Given the description of an element on the screen output the (x, y) to click on. 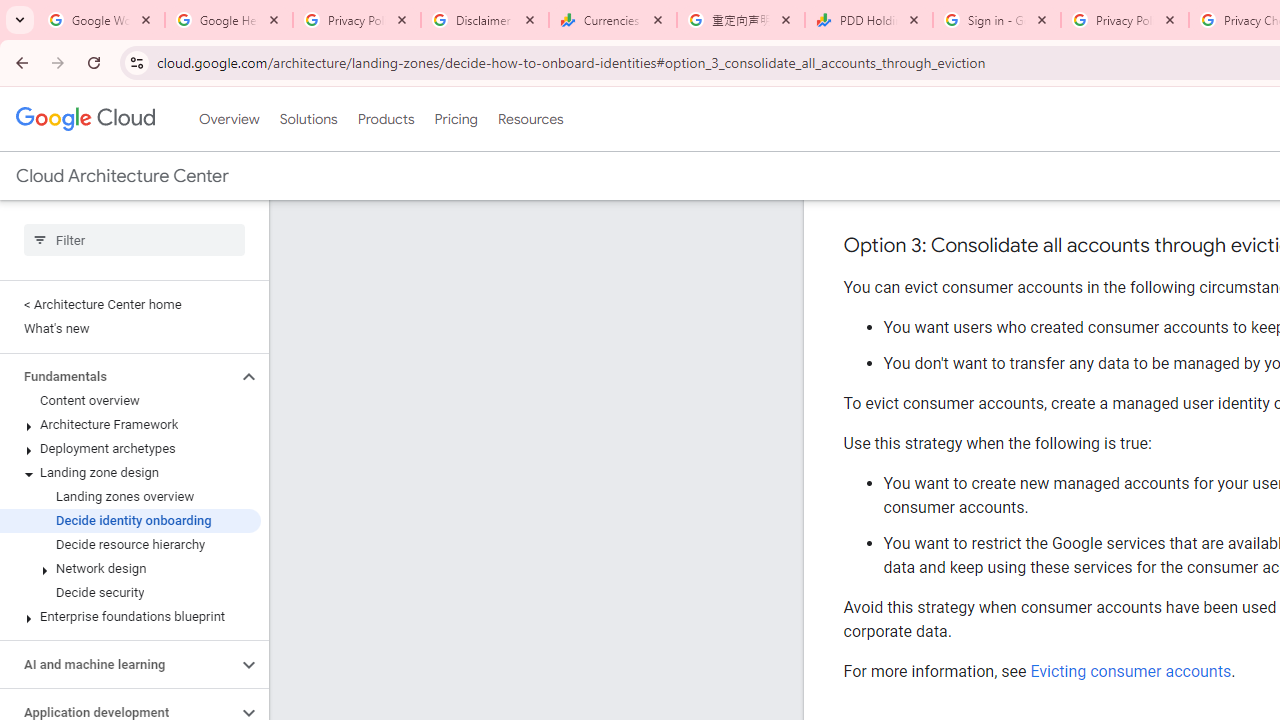
Landing zone design (130, 472)
Architecture Framework (130, 425)
Decide identity onboarding (130, 520)
Network design (130, 569)
Content overview (130, 400)
Decide resource hierarchy (130, 544)
Currencies - Google Finance (613, 20)
Fundamentals (118, 376)
